Given the description of an element on the screen output the (x, y) to click on. 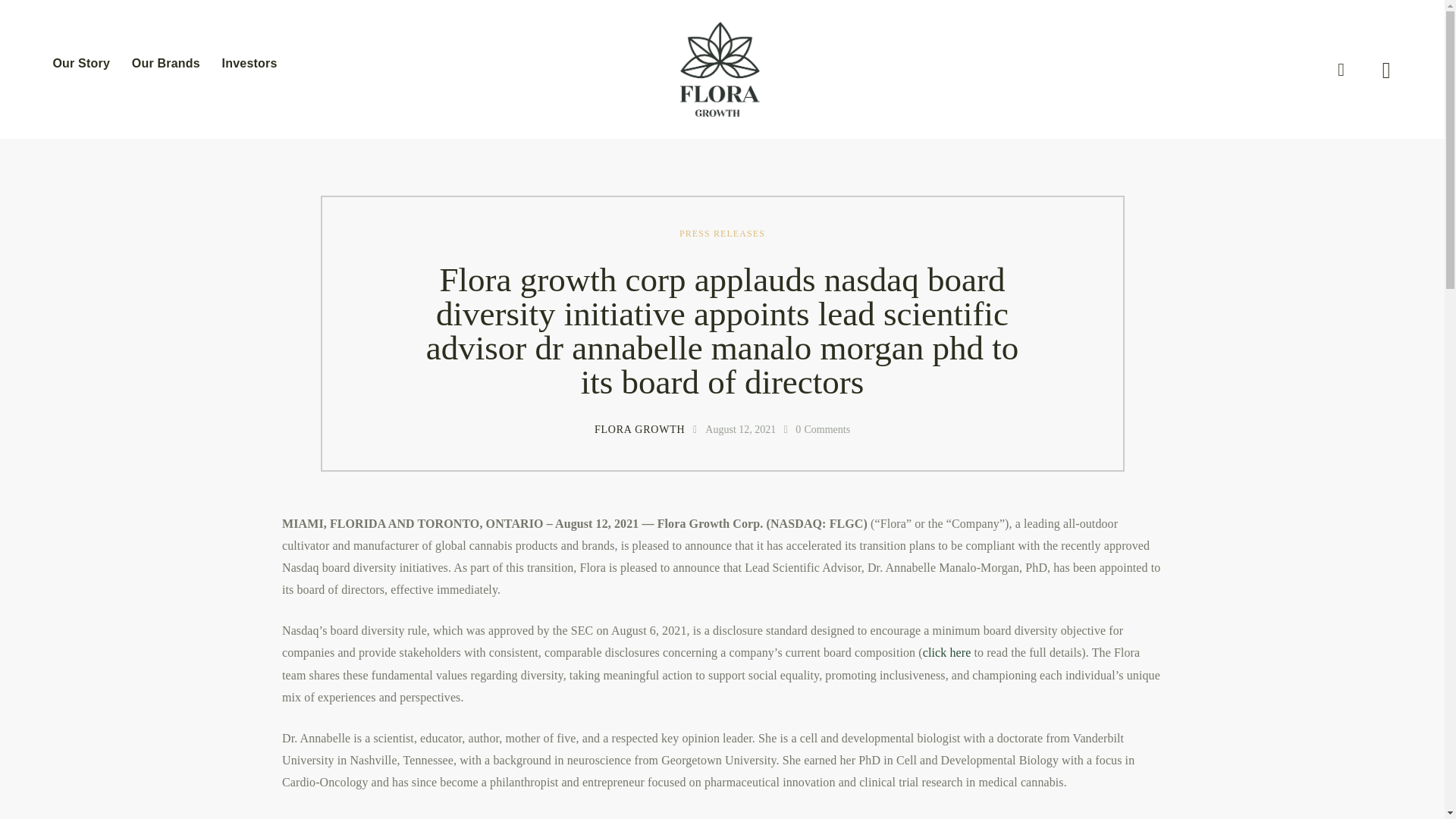
FLORA GROWTH (648, 429)
PRESS RELEASES (721, 231)
Our Story (81, 63)
0Comments (822, 429)
Investors (249, 63)
Our Brands (165, 63)
